Given the description of an element on the screen output the (x, y) to click on. 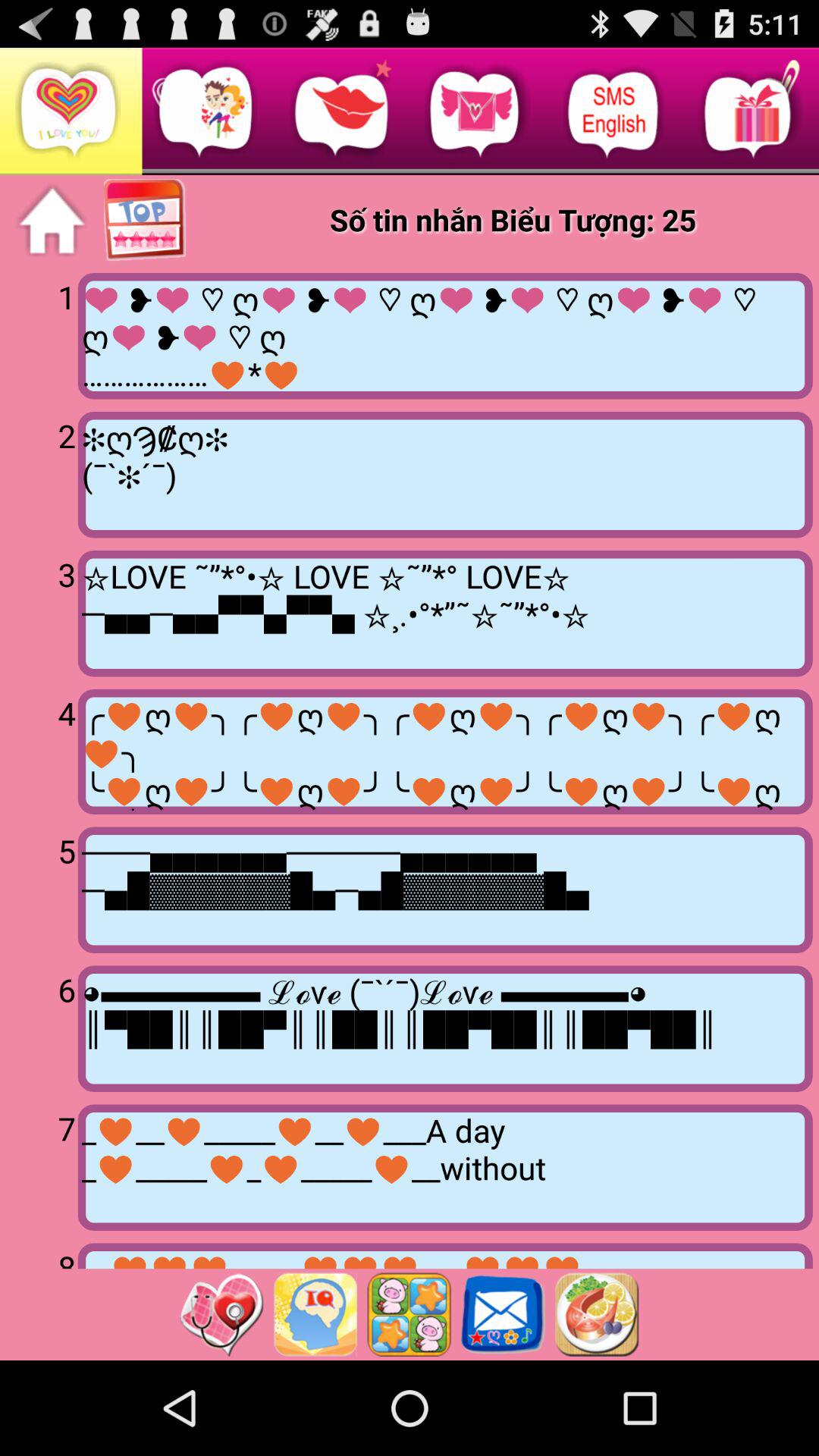
select emoji (409, 1314)
